Given the description of an element on the screen output the (x, y) to click on. 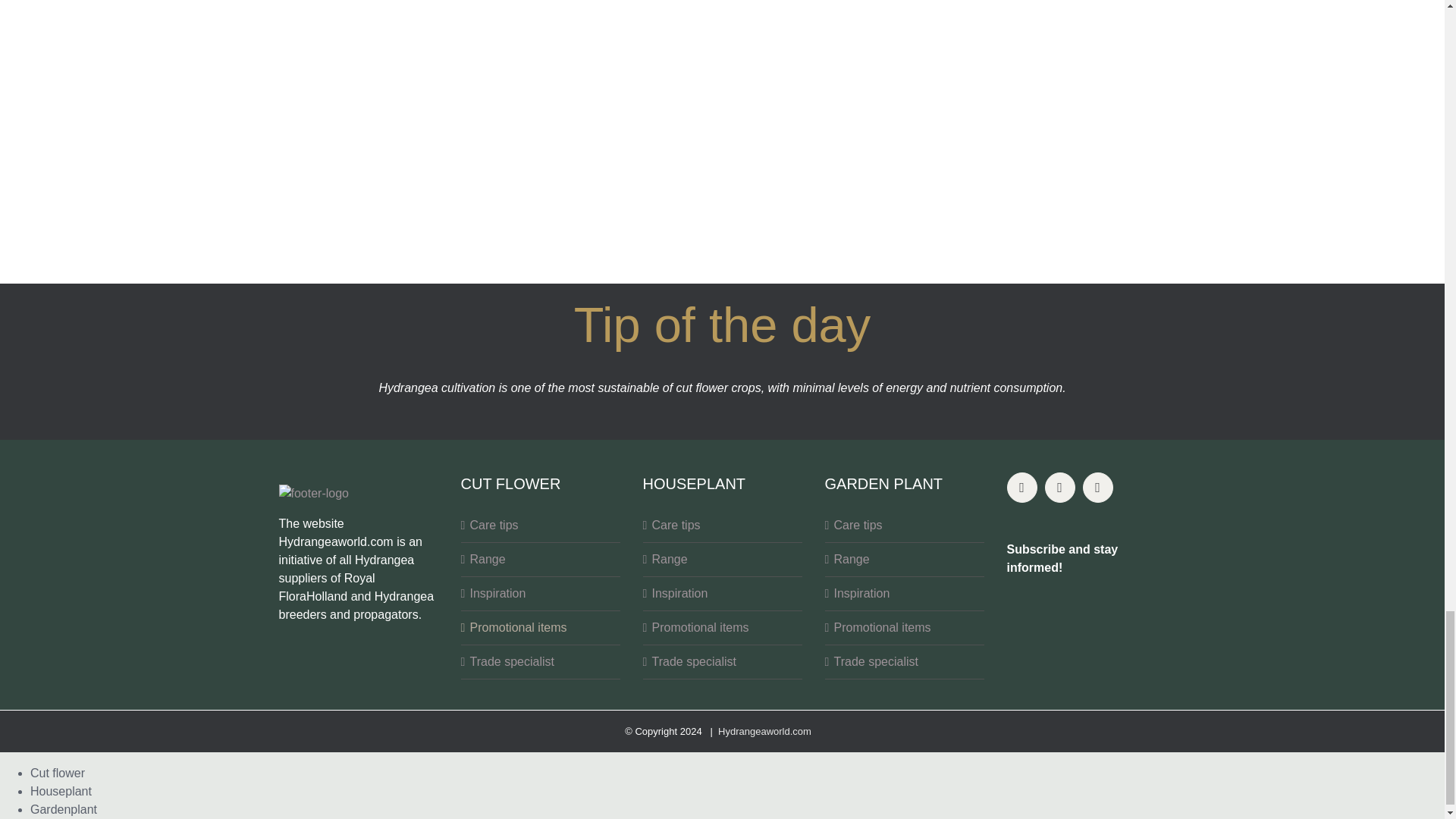
Facebook (1021, 487)
Instagram (1060, 487)
